Given the description of an element on the screen output the (x, y) to click on. 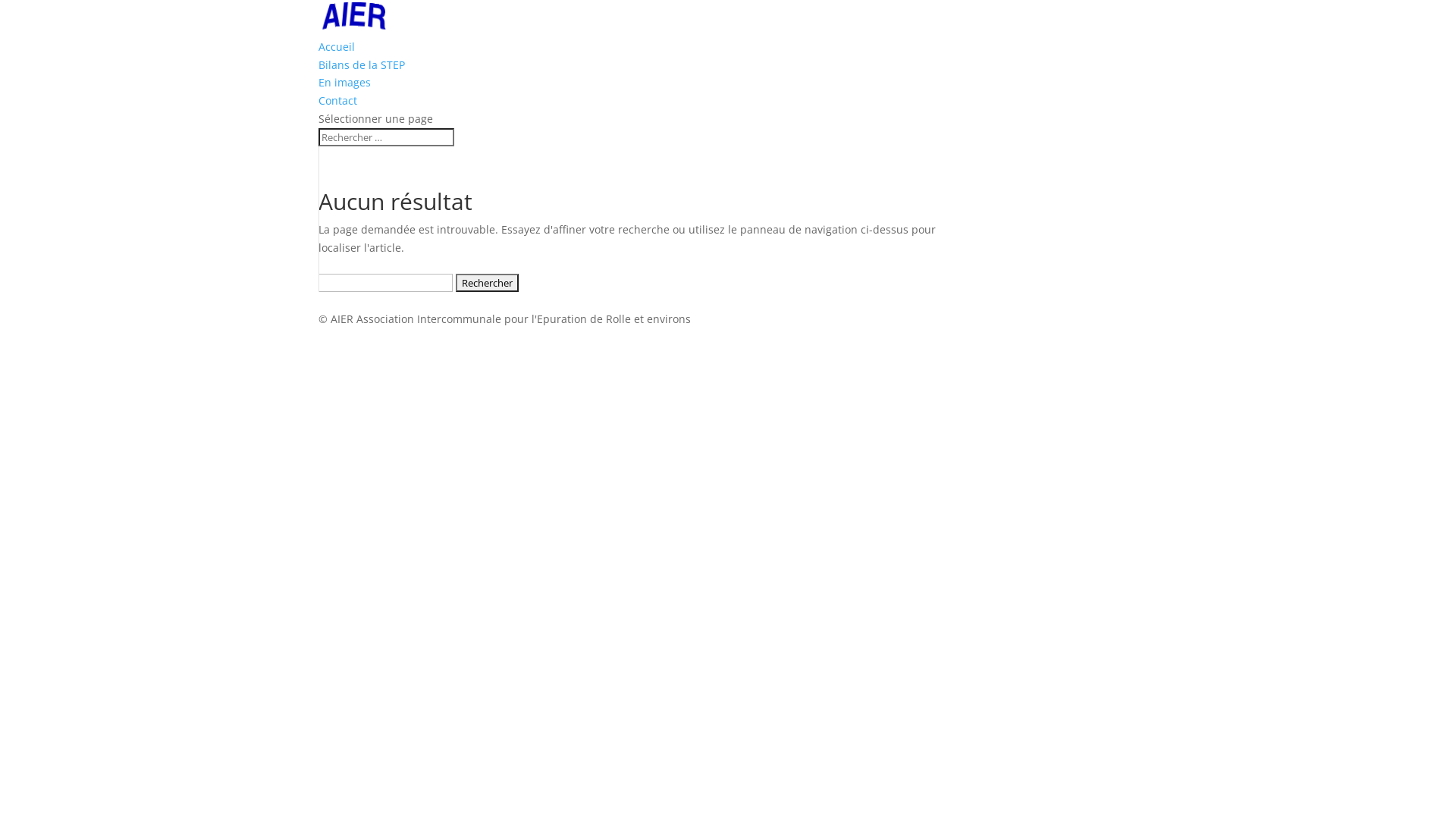
Rechercher: Element type: hover (386, 137)
En images Element type: text (344, 82)
Bilans de la STEP Element type: text (361, 64)
Rechercher Element type: text (486, 282)
Accueil Element type: text (336, 46)
Contact Element type: text (337, 100)
